Given the description of an element on the screen output the (x, y) to click on. 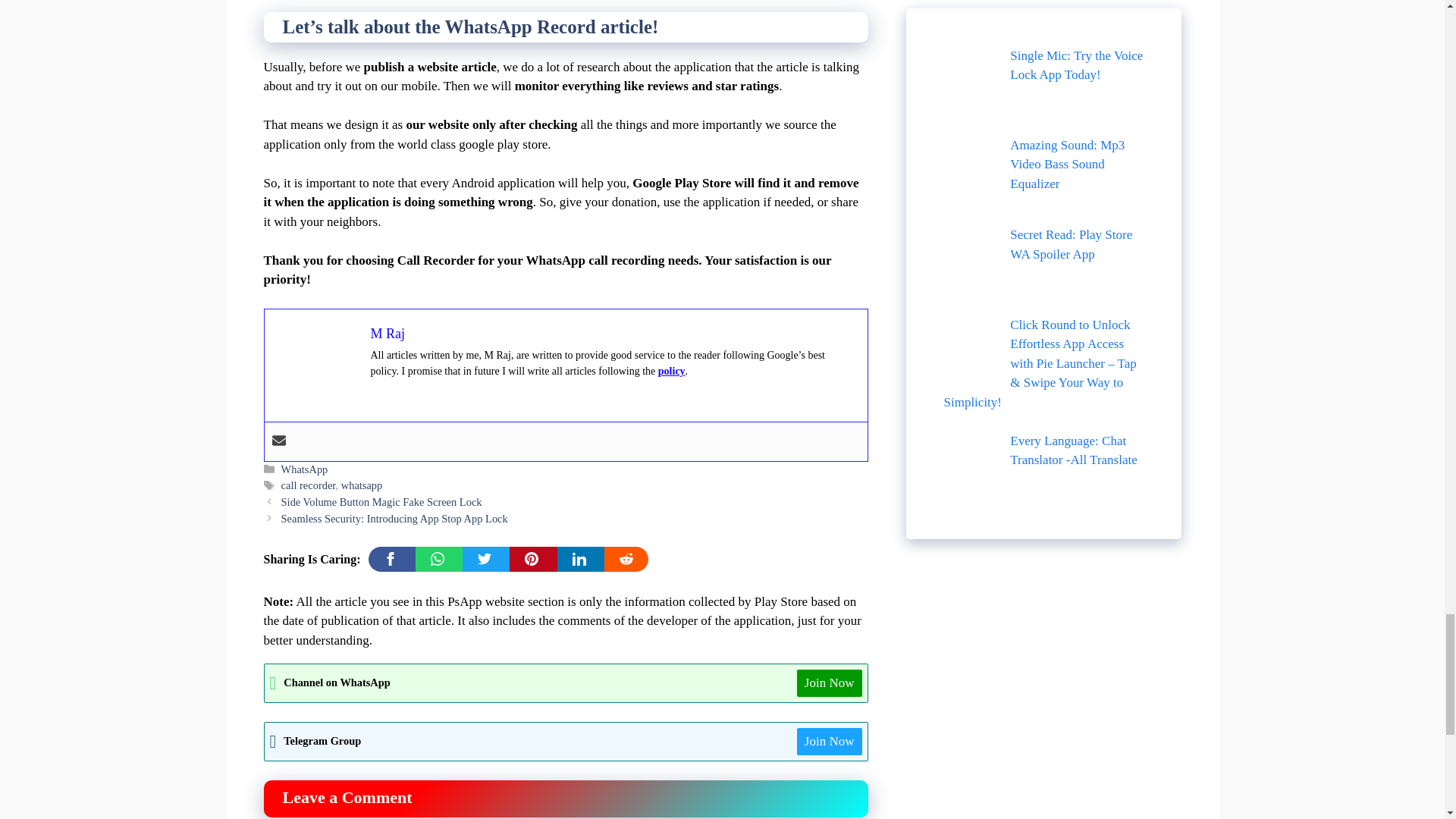
Side Volume Button Magic Fake Screen Lock (381, 501)
WhatsApp Record: WhatsApp Call Recorder App Play Store 4 (317, 362)
whatsapp (361, 485)
WhatsApp (305, 469)
policy (671, 370)
call recorder (308, 485)
Seamless Security: Introducing App Stop App Lock (394, 518)
M Raj (386, 333)
